Given the description of an element on the screen output the (x, y) to click on. 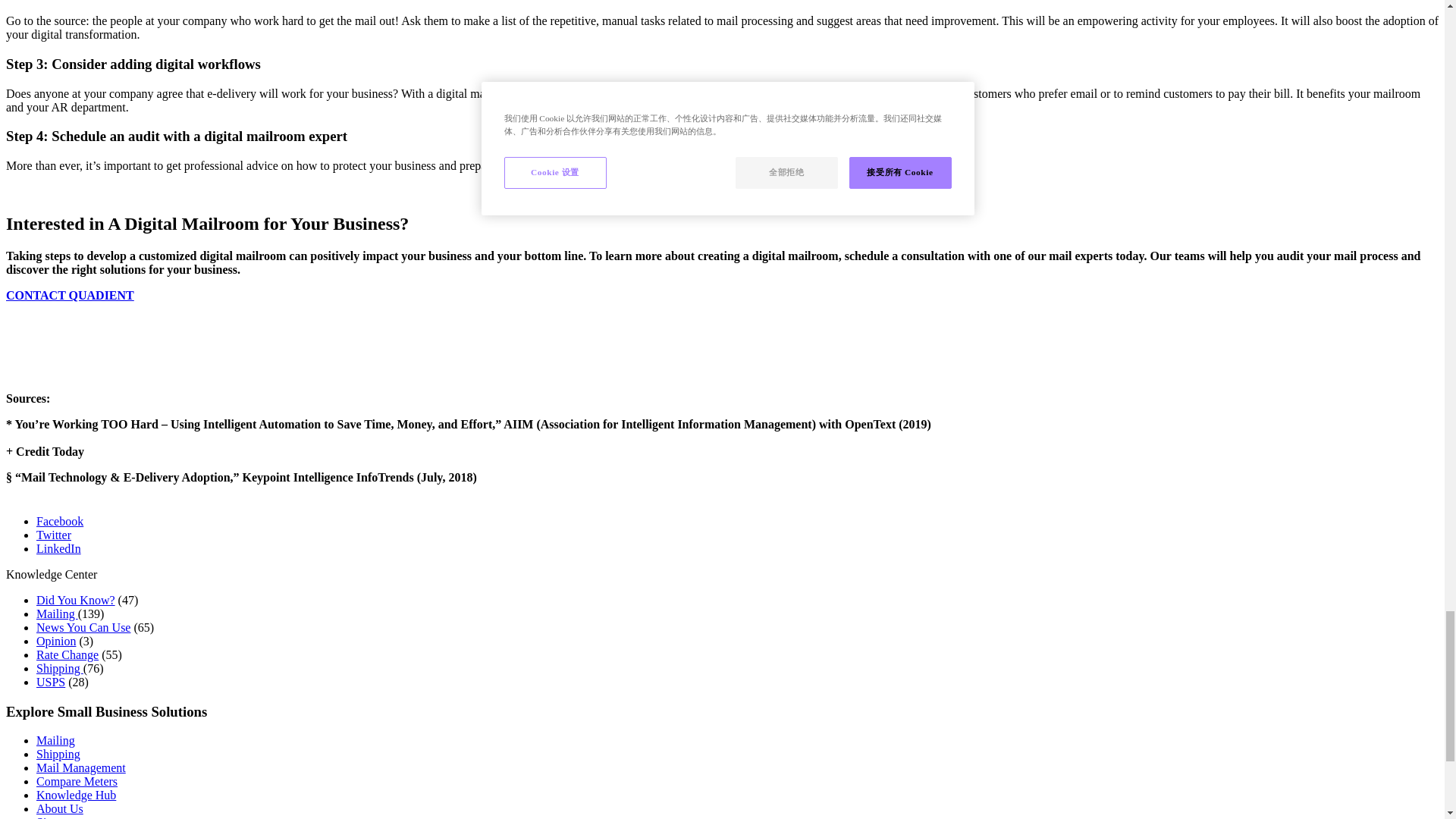
Share on LinkedIn (58, 548)
Share on Twitter (53, 534)
Share on Facebook (59, 521)
